Given the description of an element on the screen output the (x, y) to click on. 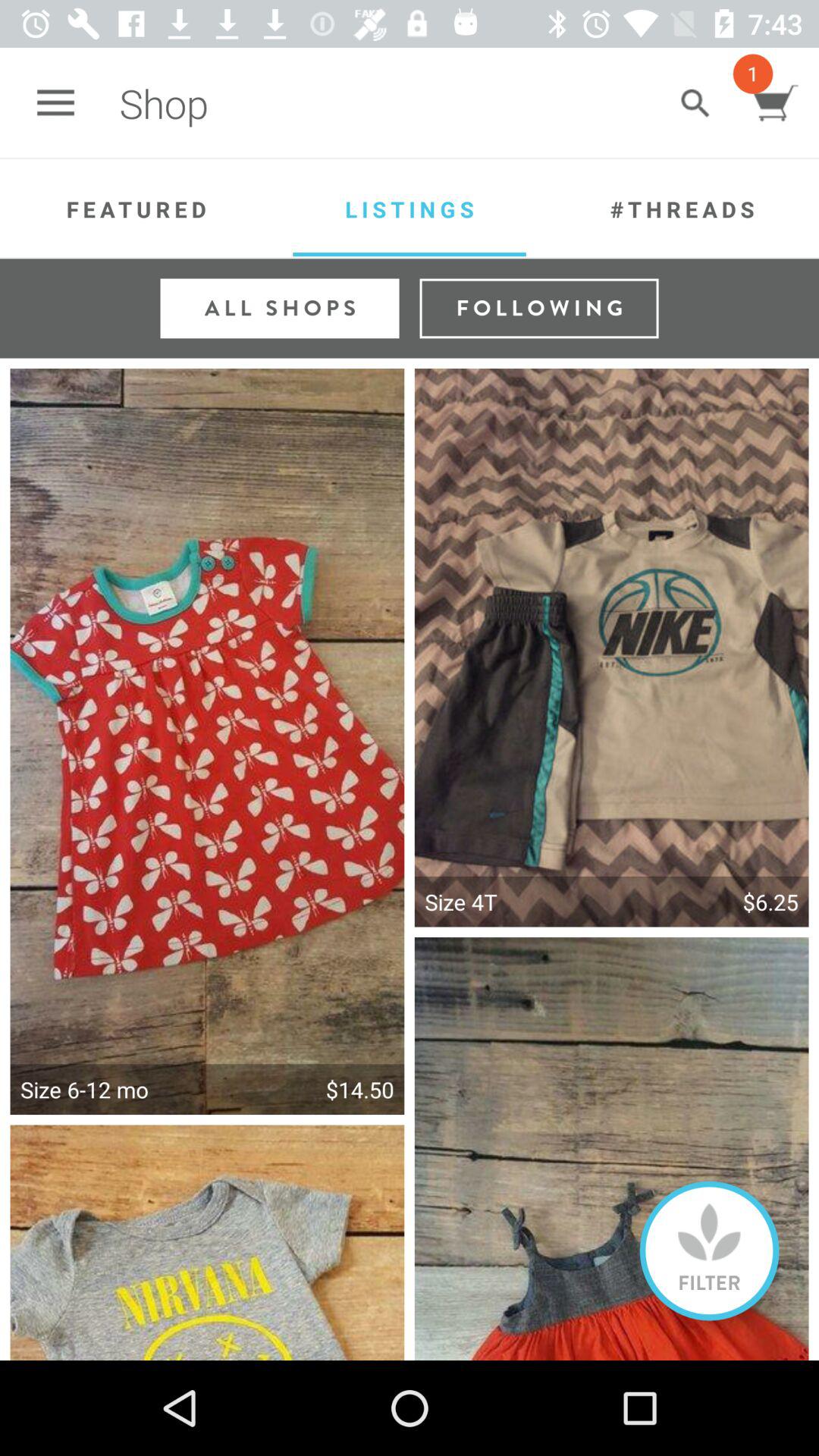
filter button (709, 1250)
